Given the description of an element on the screen output the (x, y) to click on. 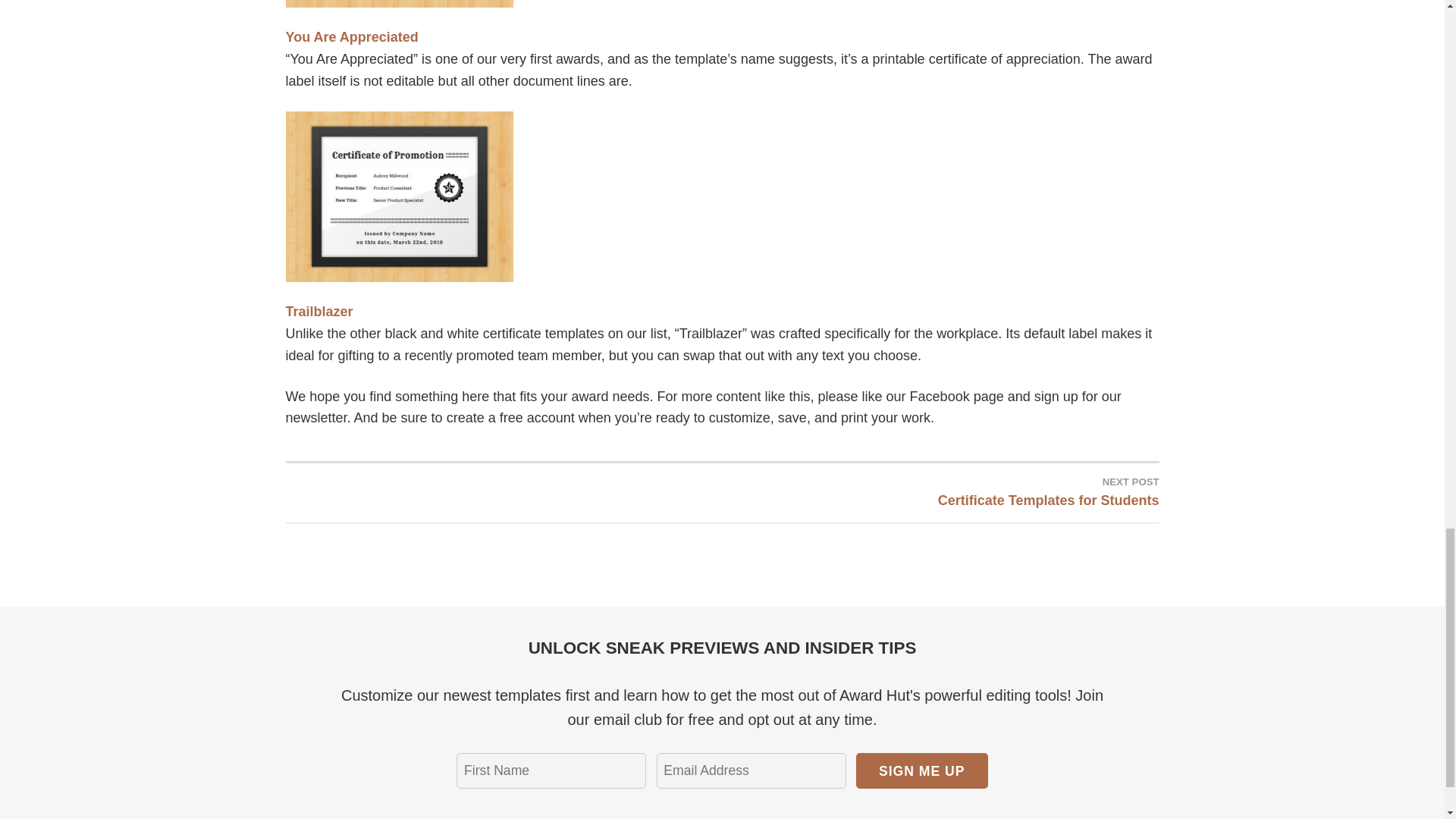
Trailblazer (318, 311)
You Are Appreciated (351, 37)
SIGN ME UP (922, 770)
